Given the description of an element on the screen output the (x, y) to click on. 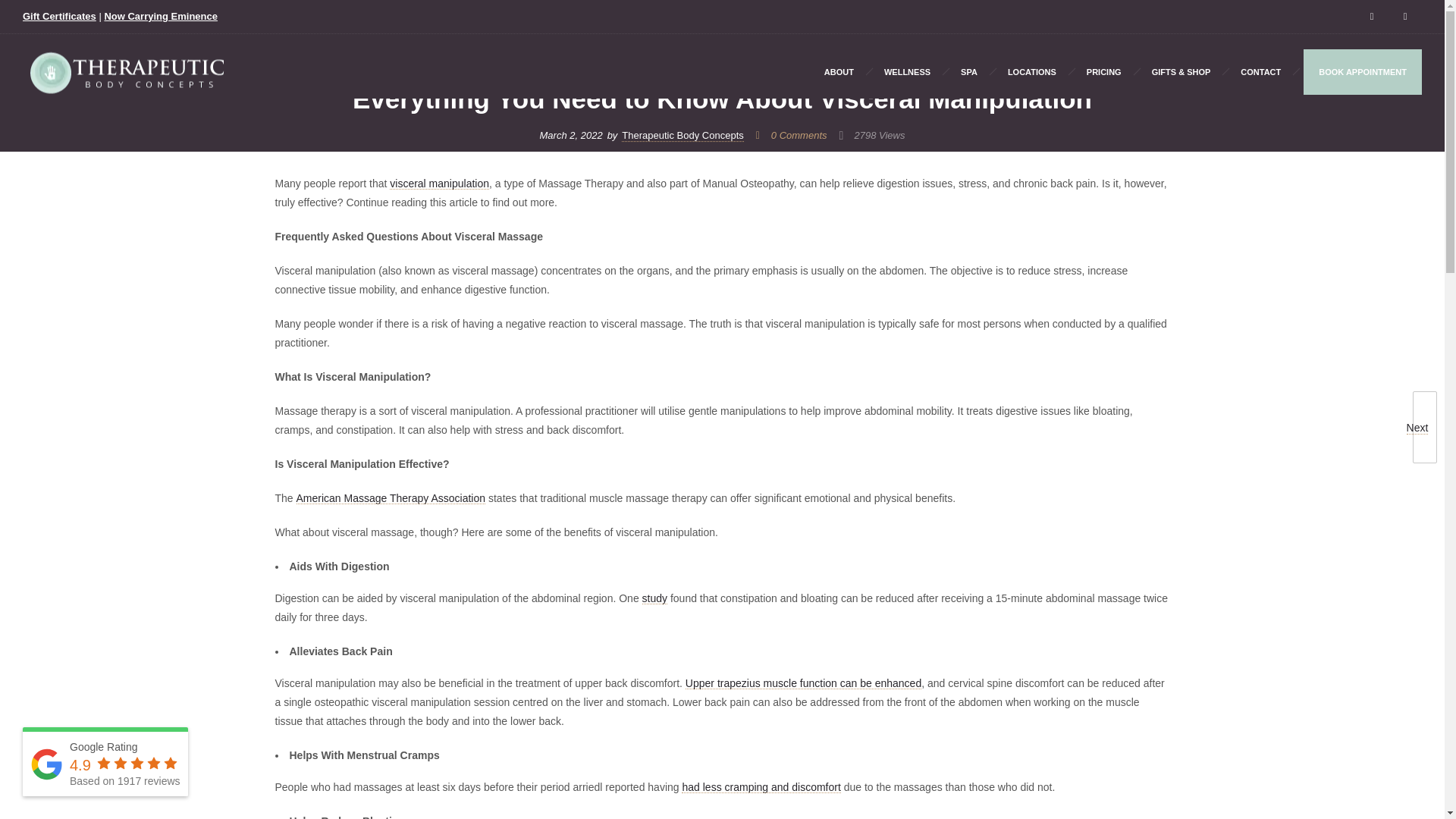
WELLNESS (906, 72)
Now Carrying Eminence (159, 16)
Gift Certificates (59, 16)
ABOUT (839, 72)
Facebook (1372, 16)
Instagram (1405, 16)
